Given the description of an element on the screen output the (x, y) to click on. 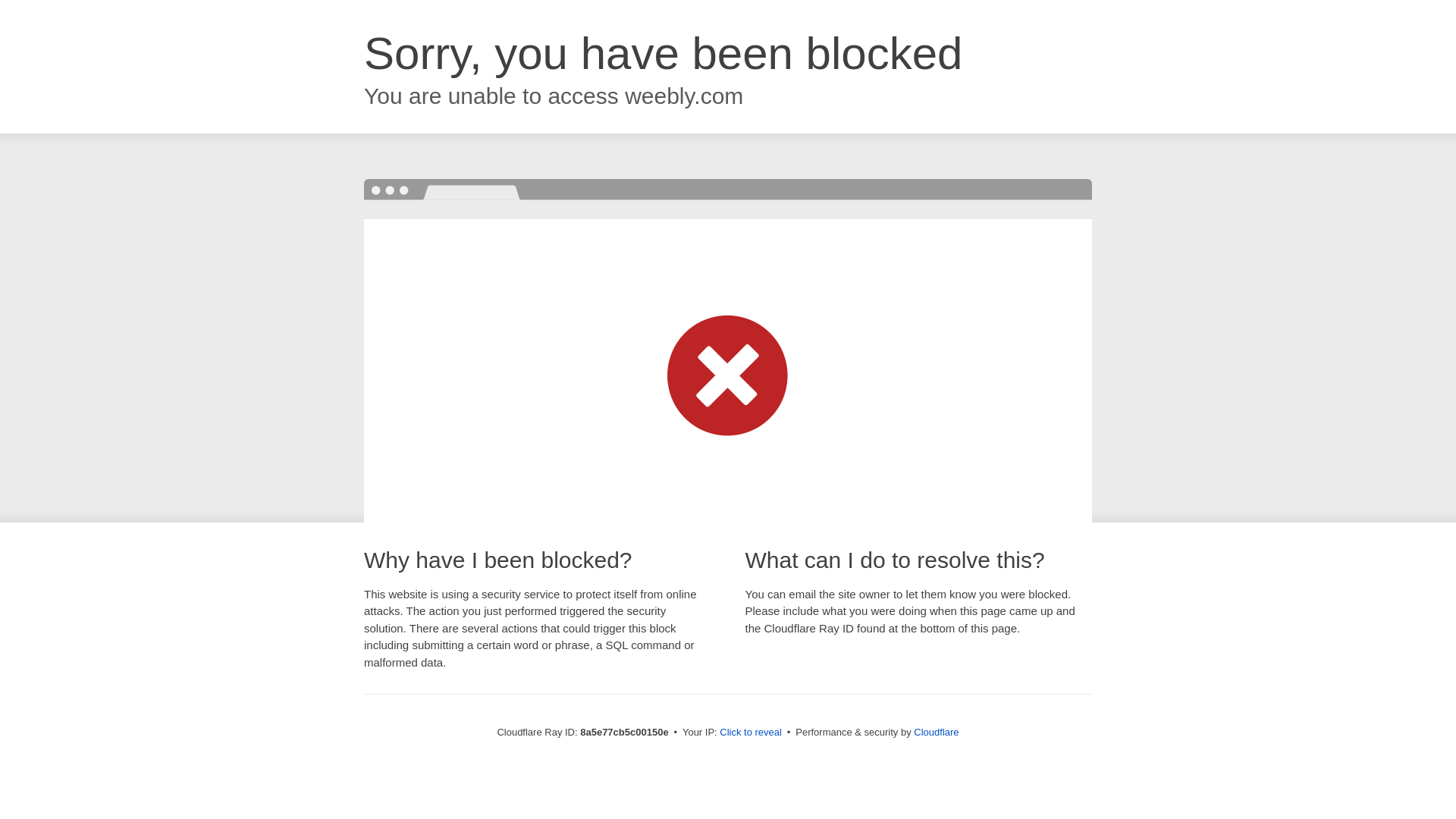
Click to reveal (750, 732)
Cloudflare (936, 731)
